Given the description of an element on the screen output the (x, y) to click on. 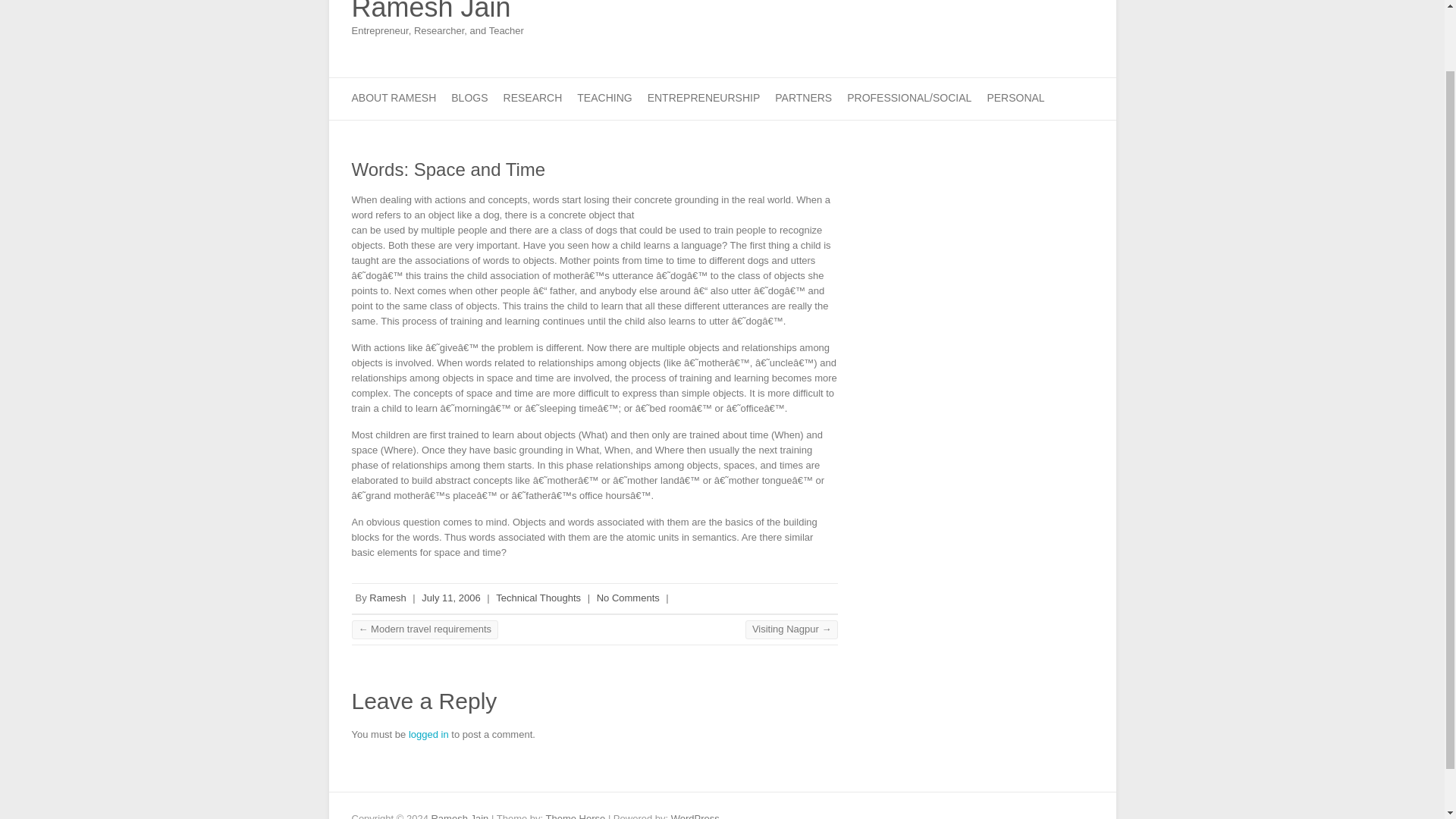
Ramesh (387, 597)
Ramesh Jain (438, 11)
RESEARCH (532, 98)
No Comments (627, 597)
BLOGS (469, 98)
Technical Thoughts (538, 597)
ENTREPRENEURSHIP (703, 98)
PERSONAL (1015, 98)
ABOUT RAMESH (394, 98)
9:51 am (451, 597)
TEACHING (603, 98)
Ramesh Jain (438, 11)
July 11, 2006 (451, 597)
PARTNERS (802, 98)
